Given the description of an element on the screen output the (x, y) to click on. 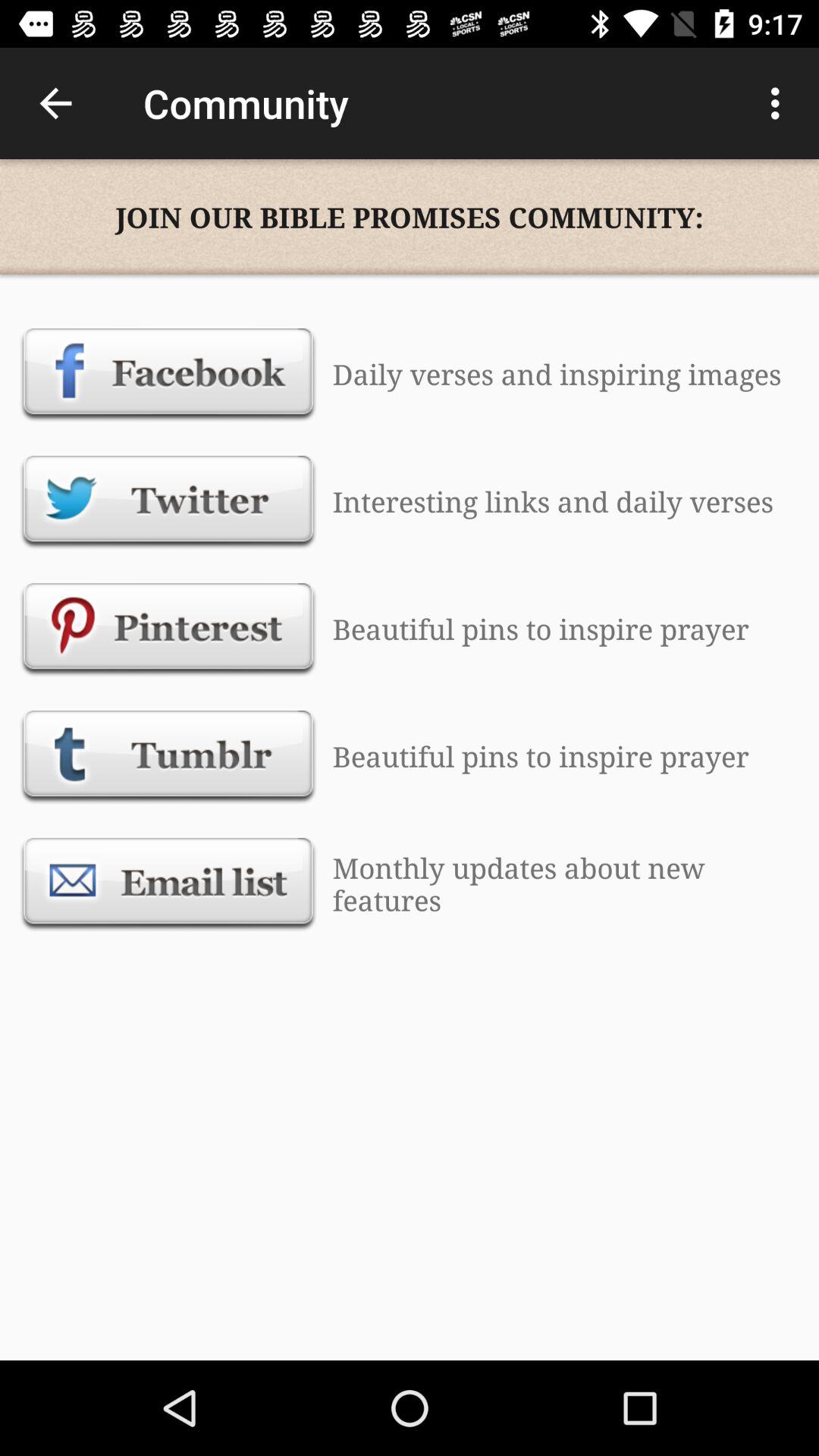
tap item to the left of daily verses and item (167, 374)
